Given the description of an element on the screen output the (x, y) to click on. 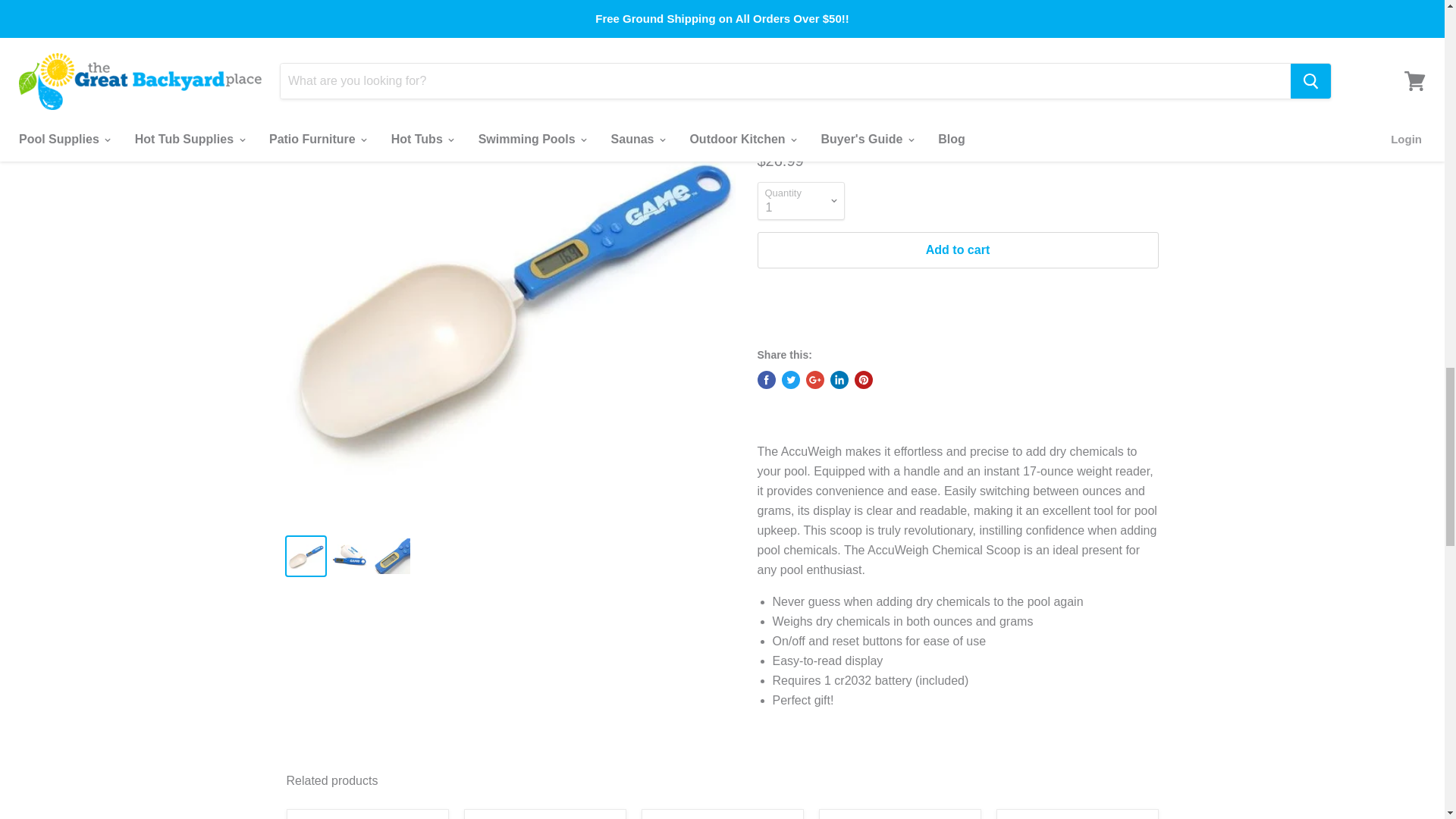
Game (789, 110)
